Given the description of an element on the screen output the (x, y) to click on. 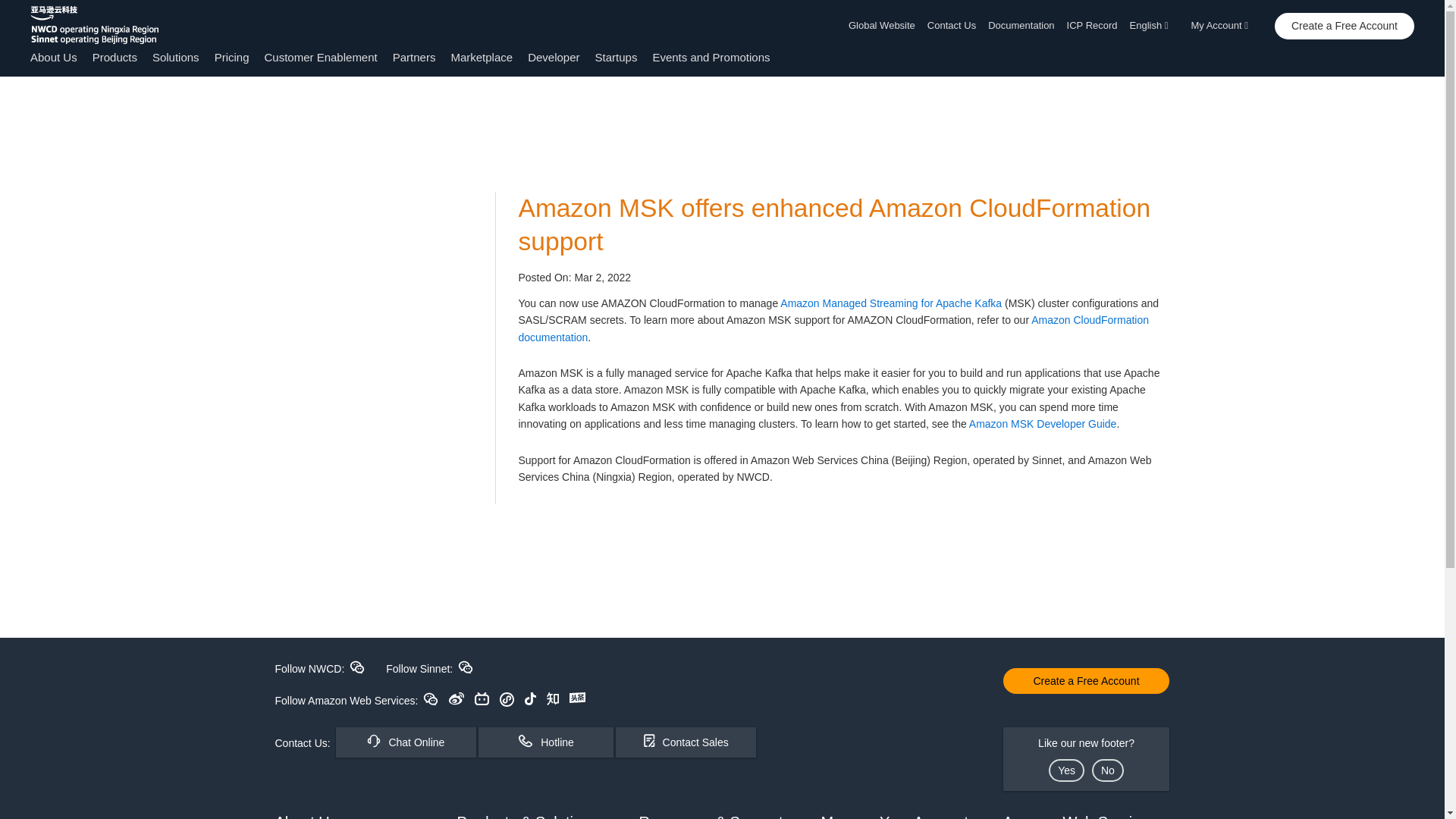
Global Website (884, 26)
Documentation (1020, 26)
Solutions (175, 56)
About Us (53, 56)
WeChat public account (430, 698)
ICP Record (1092, 26)
Skip to main content (7, 105)
Create a Free Account (1344, 25)
Contact Us (951, 26)
TouTiao (577, 697)
English  (1154, 26)
Pricing (231, 56)
Amazon MSK Developer Guide (1042, 423)
SinaWeiBo (456, 698)
Amazon MSK offers enhanced Amazon CloudFormation support (834, 224)
